Given the description of an element on the screen output the (x, y) to click on. 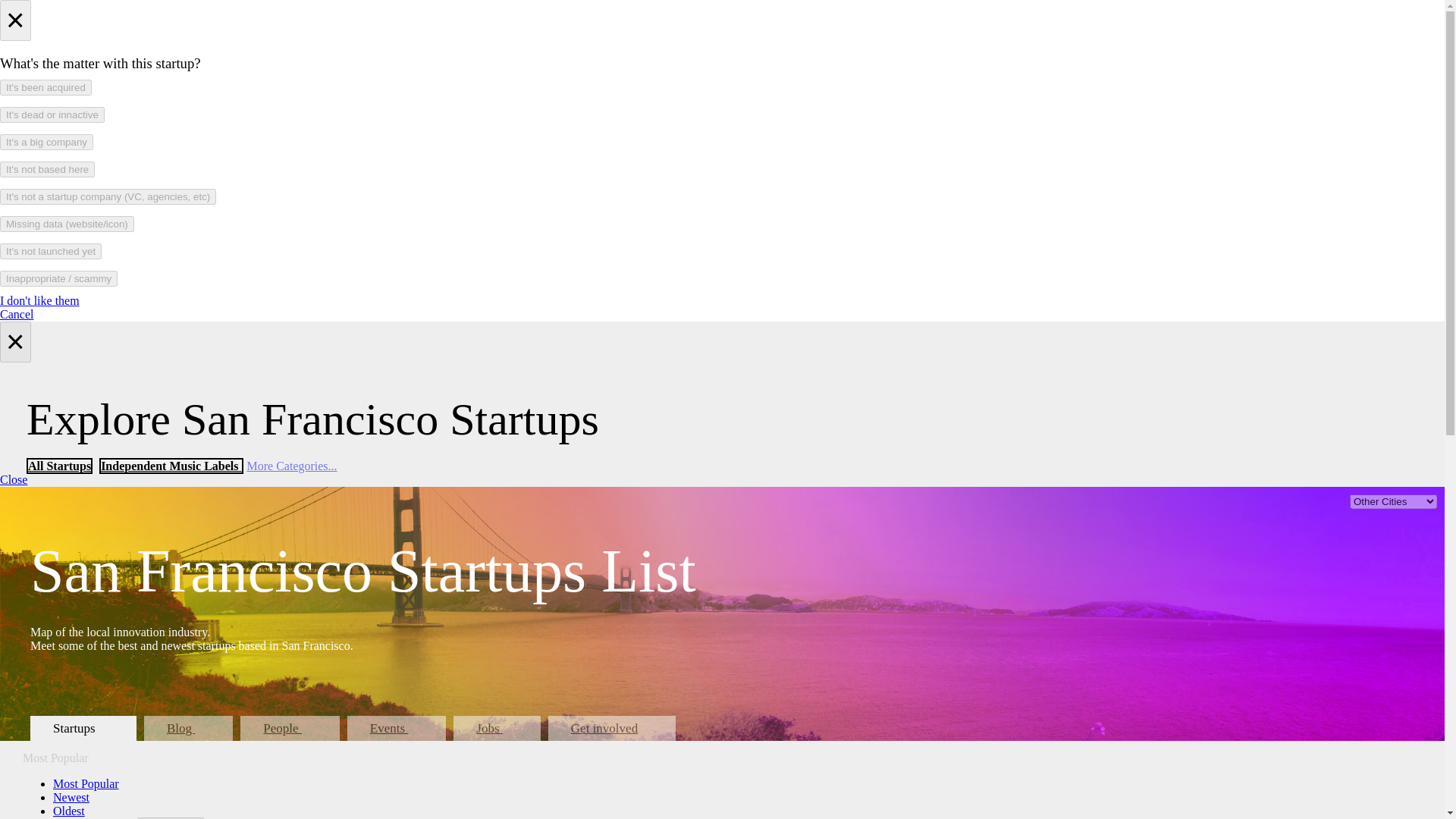
It's dead or innactive (52, 114)
All Startups (59, 465)
It's been acquired (45, 87)
Independent Music Labels (171, 465)
Cancel (16, 314)
It's not based here (47, 169)
More Categories... (292, 465)
It's a big company (46, 141)
It's not launched yet (50, 251)
Close (13, 479)
I don't like them (40, 300)
